Given the description of an element on the screen output the (x, y) to click on. 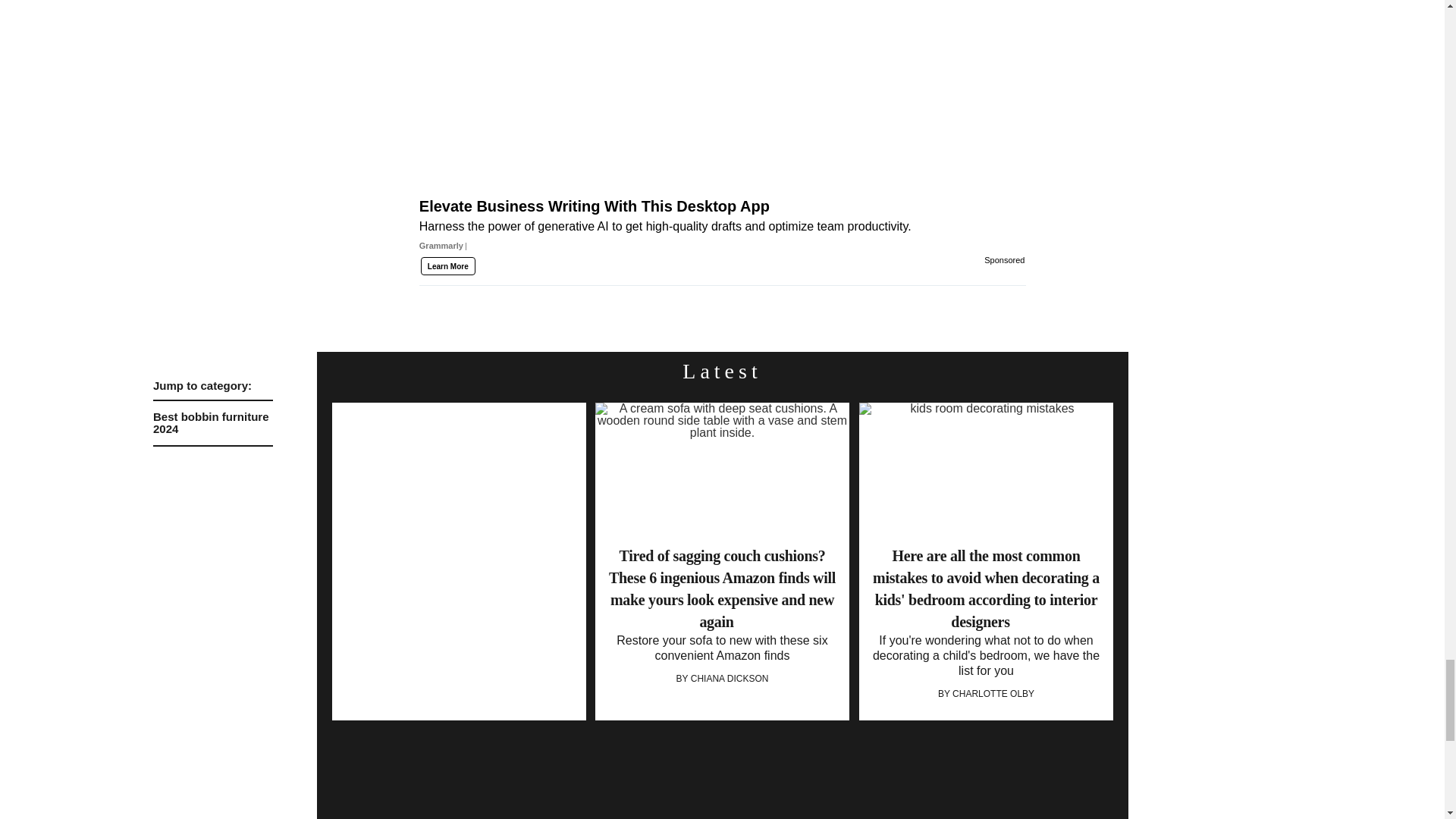
Elevate Business Writing With This Desktop App (722, 96)
Elevate Business Writing With This Desktop App (722, 230)
